Given the description of an element on the screen output the (x, y) to click on. 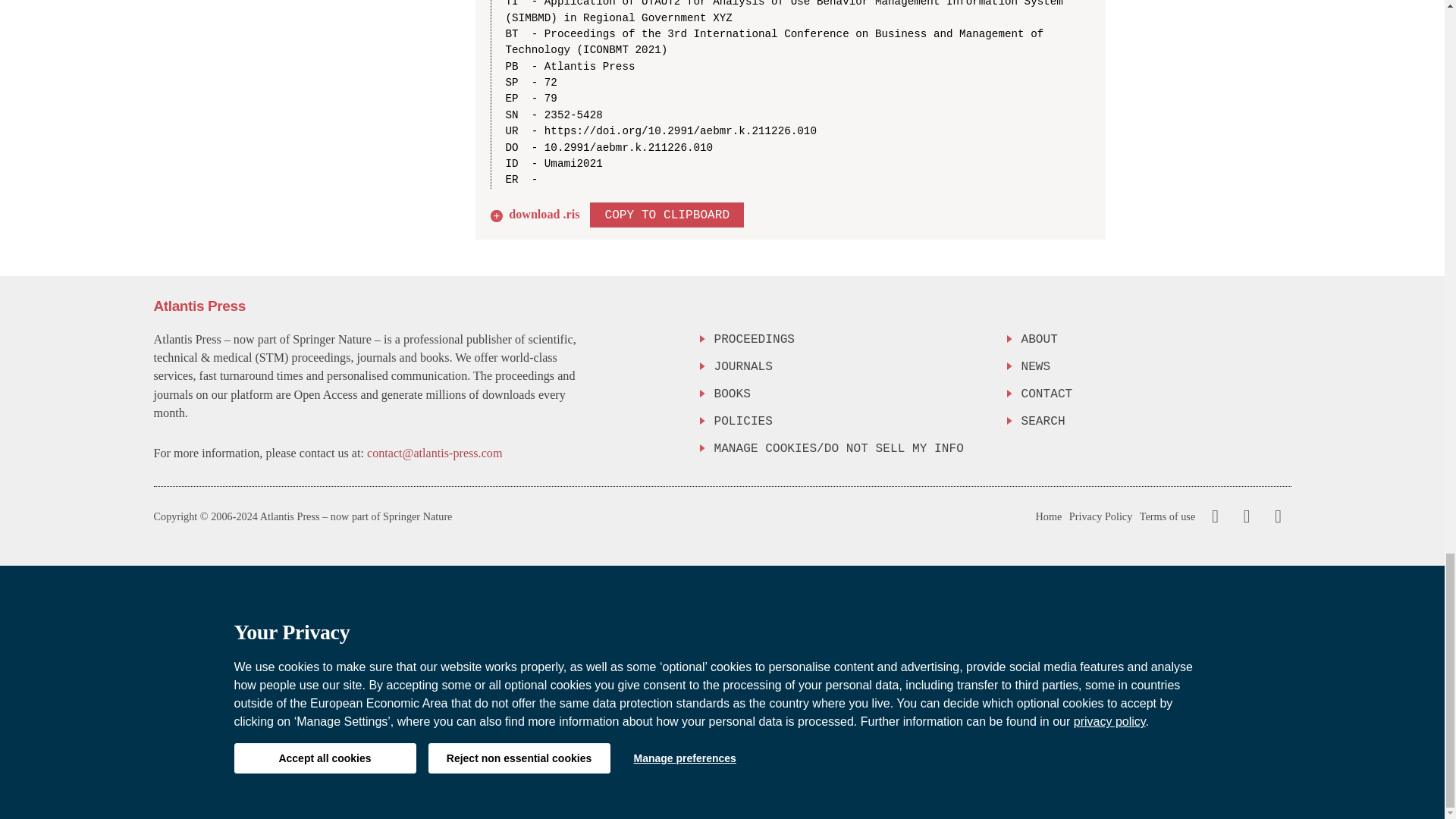
Twitter (1243, 516)
Facebook (1215, 516)
LinkedIn (1275, 516)
